Given the description of an element on the screen output the (x, y) to click on. 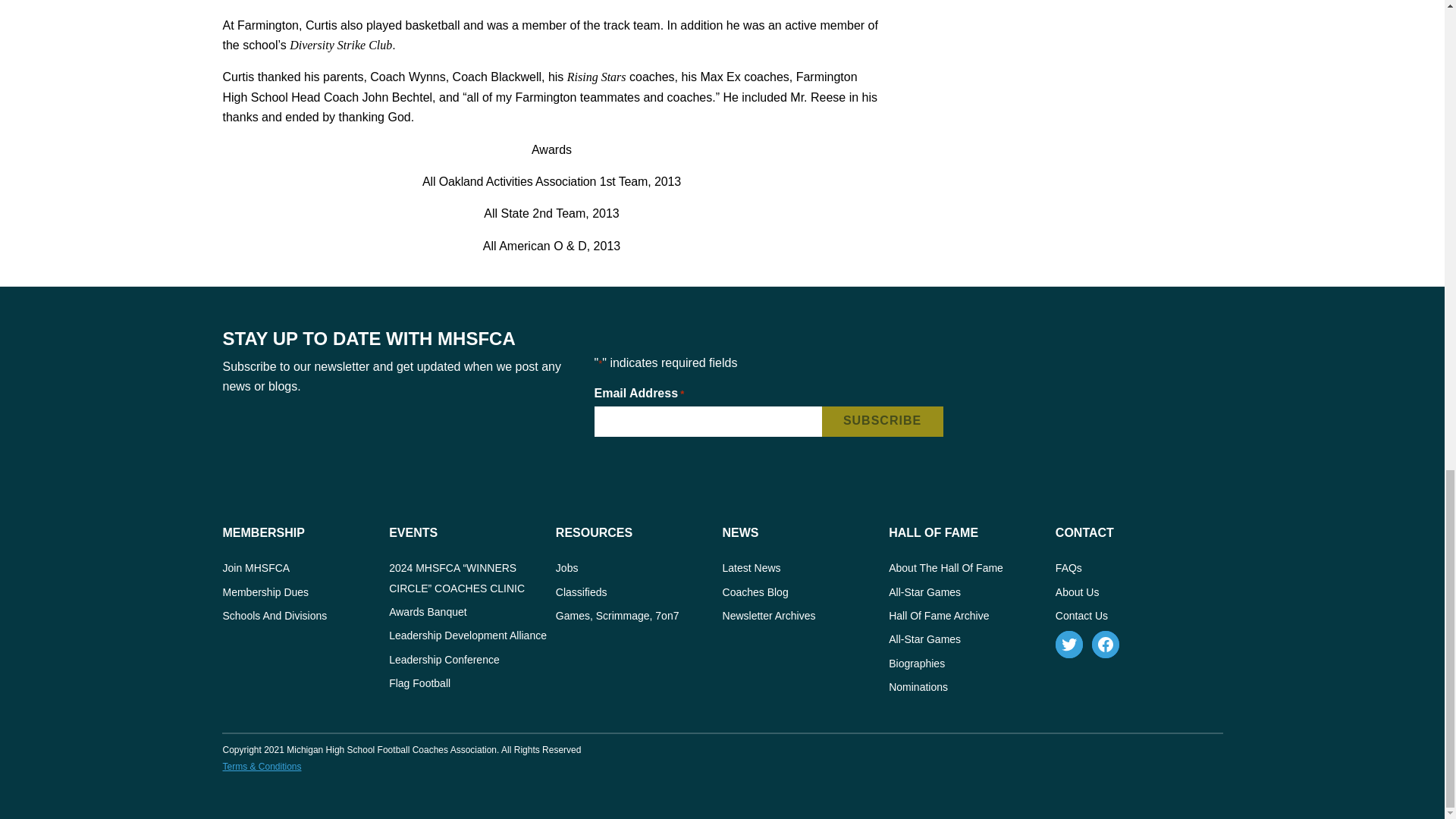
Subscribe (882, 421)
